Given the description of an element on the screen output the (x, y) to click on. 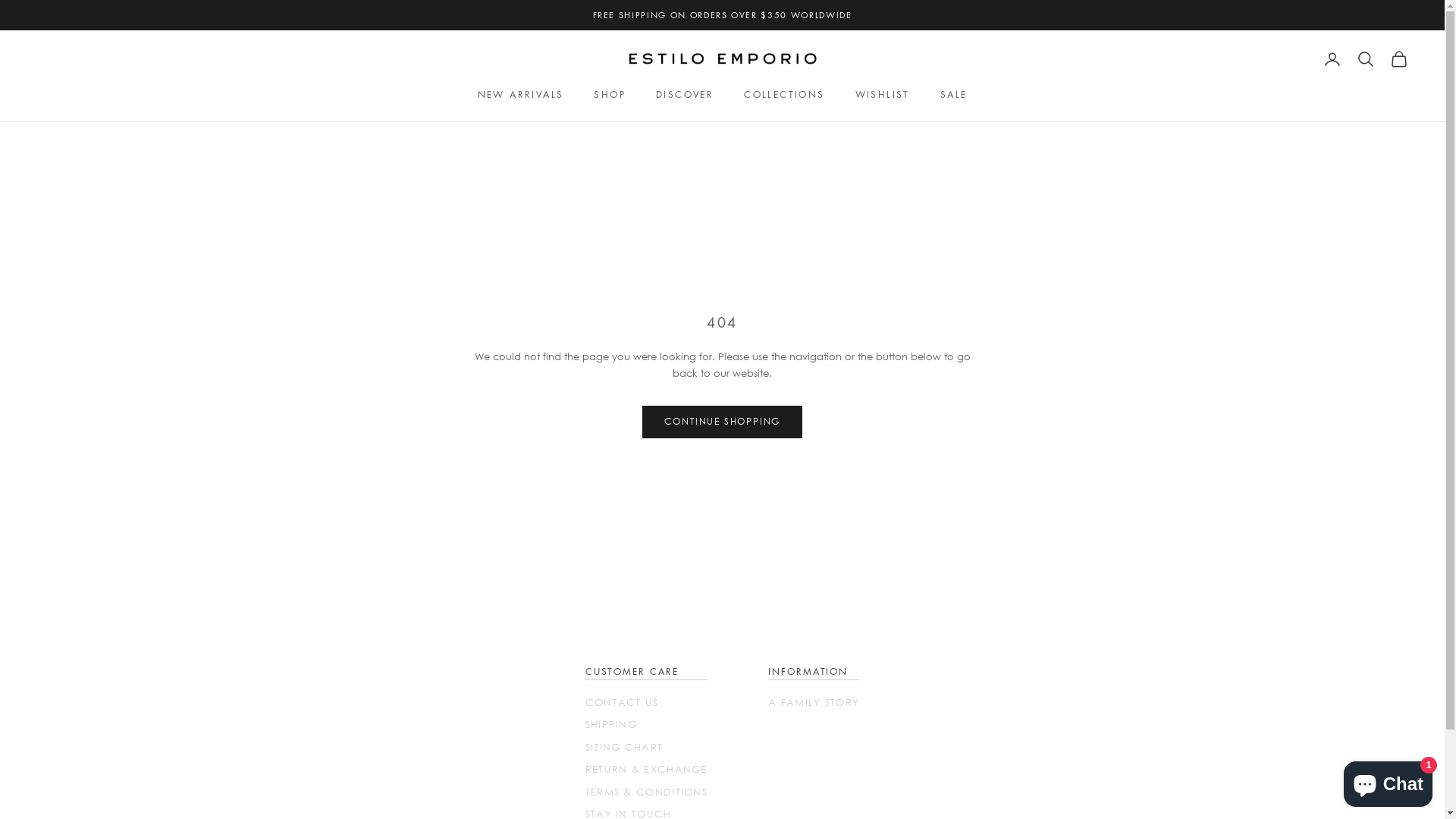
CONTINUE SHOPPING Element type: text (722, 421)
Open search Element type: text (1365, 59)
RETURN & EXCHANGE Element type: text (646, 768)
NEW ARRIVALS Element type: text (520, 94)
Open account page Element type: text (1332, 59)
EstiloEmporio Element type: text (722, 58)
A FAMILY STORY Element type: text (813, 702)
WISHLIST Element type: text (882, 94)
DISCOVER Element type: text (684, 94)
CONTACT US Element type: text (621, 702)
Open cart Element type: text (1399, 59)
SHIPPING Element type: text (611, 724)
SIZING CHART Element type: text (624, 746)
TERMS & CONDITIONS Element type: text (646, 791)
Shopify online store chat Element type: hover (1388, 780)
